Given the description of an element on the screen output the (x, y) to click on. 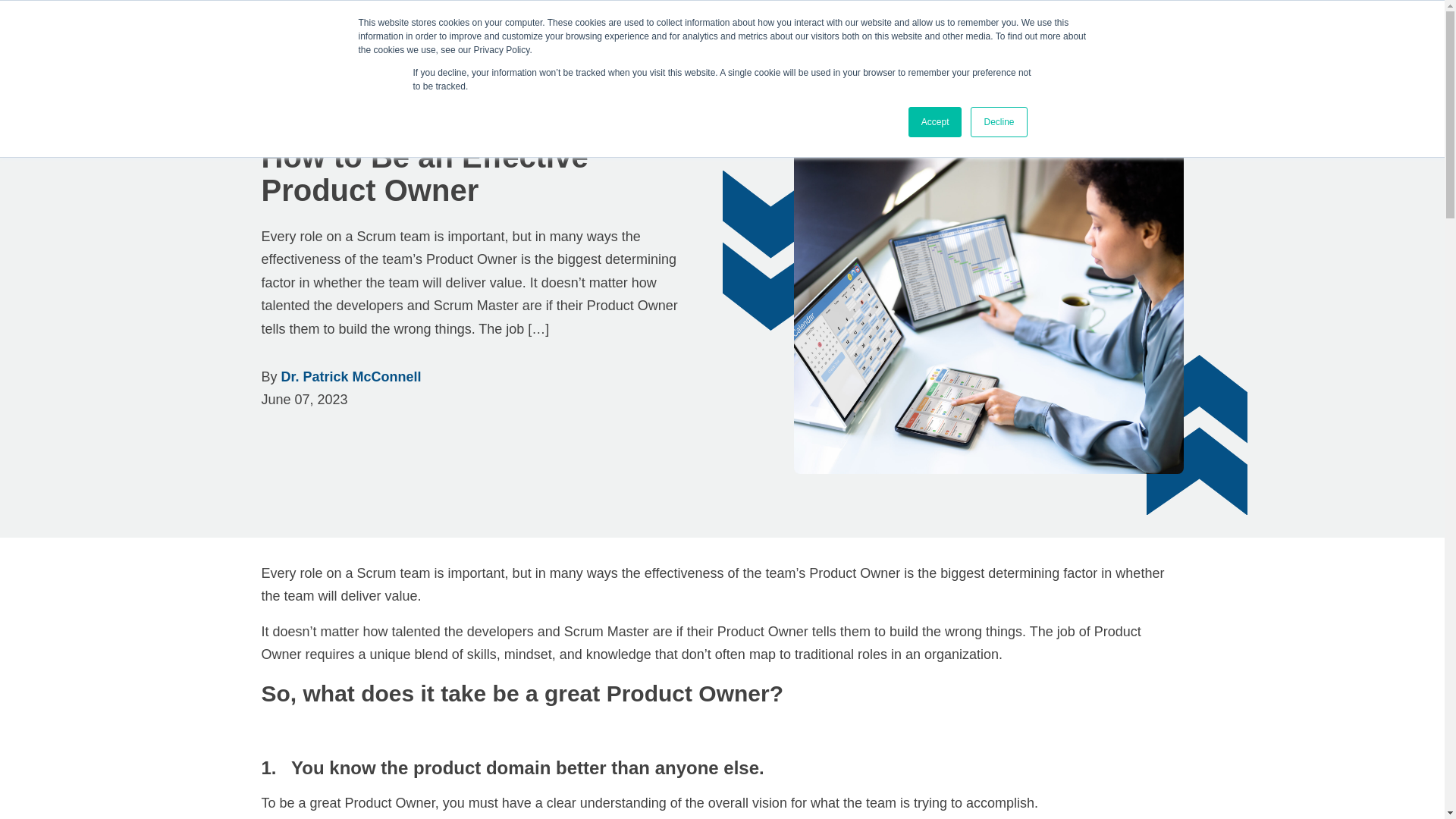
Posts by Dr. Patrick McConnell (351, 376)
About NextUp (1005, 37)
Dr. Patrick McConnell (351, 376)
Toggle Search (1169, 35)
NextUp Solutions (347, 33)
Coaching (910, 37)
Agile Training (816, 37)
Resources (1103, 37)
Insights (283, 109)
Accept (935, 122)
Product Owner (368, 109)
Decline (998, 122)
